Given the description of an element on the screen output the (x, y) to click on. 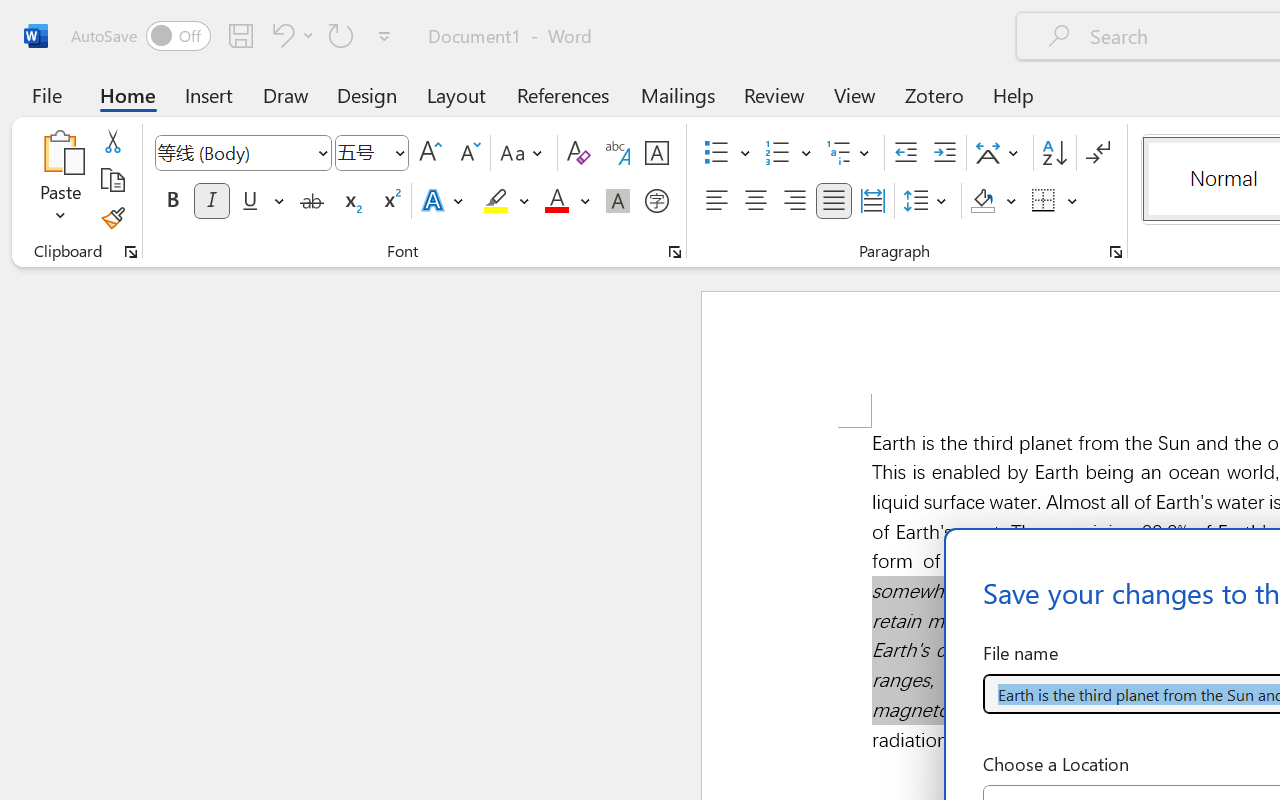
Subscript (350, 201)
Line and Paragraph Spacing (927, 201)
Justify (834, 201)
Superscript (390, 201)
Show/Hide Editing Marks (1098, 153)
Grow Font (430, 153)
Bold (172, 201)
